Given the description of an element on the screen output the (x, y) to click on. 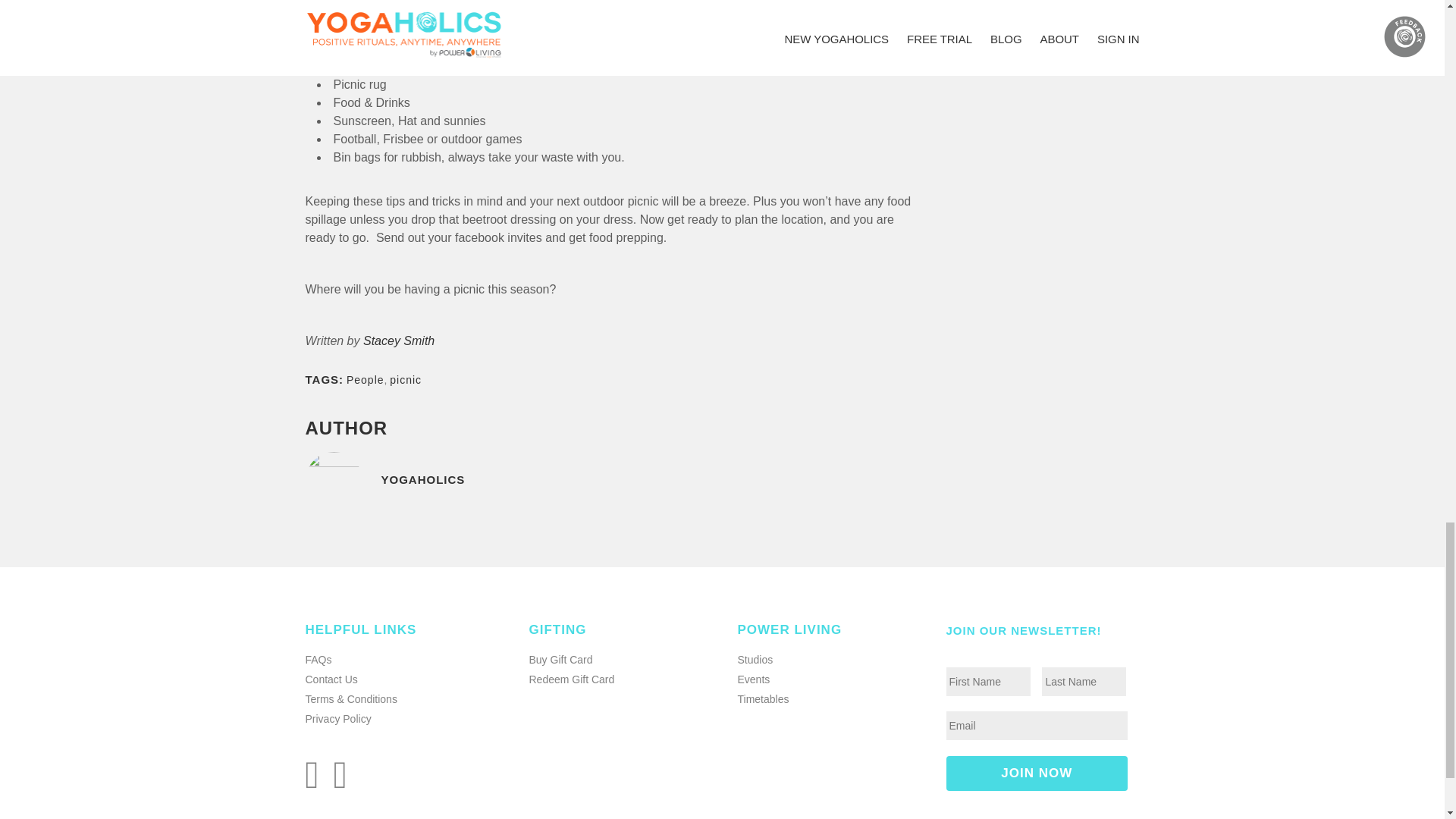
Join Now (1037, 773)
YOGAHOLICS (609, 489)
Redeem Gift Card (571, 679)
Buy Gift Card (560, 659)
Stacey Smith (397, 340)
Events (753, 679)
Privacy Policy (337, 718)
FAQs (317, 659)
Contact Us (330, 679)
picnic (406, 379)
People (365, 379)
Studios (754, 659)
